Given the description of an element on the screen output the (x, y) to click on. 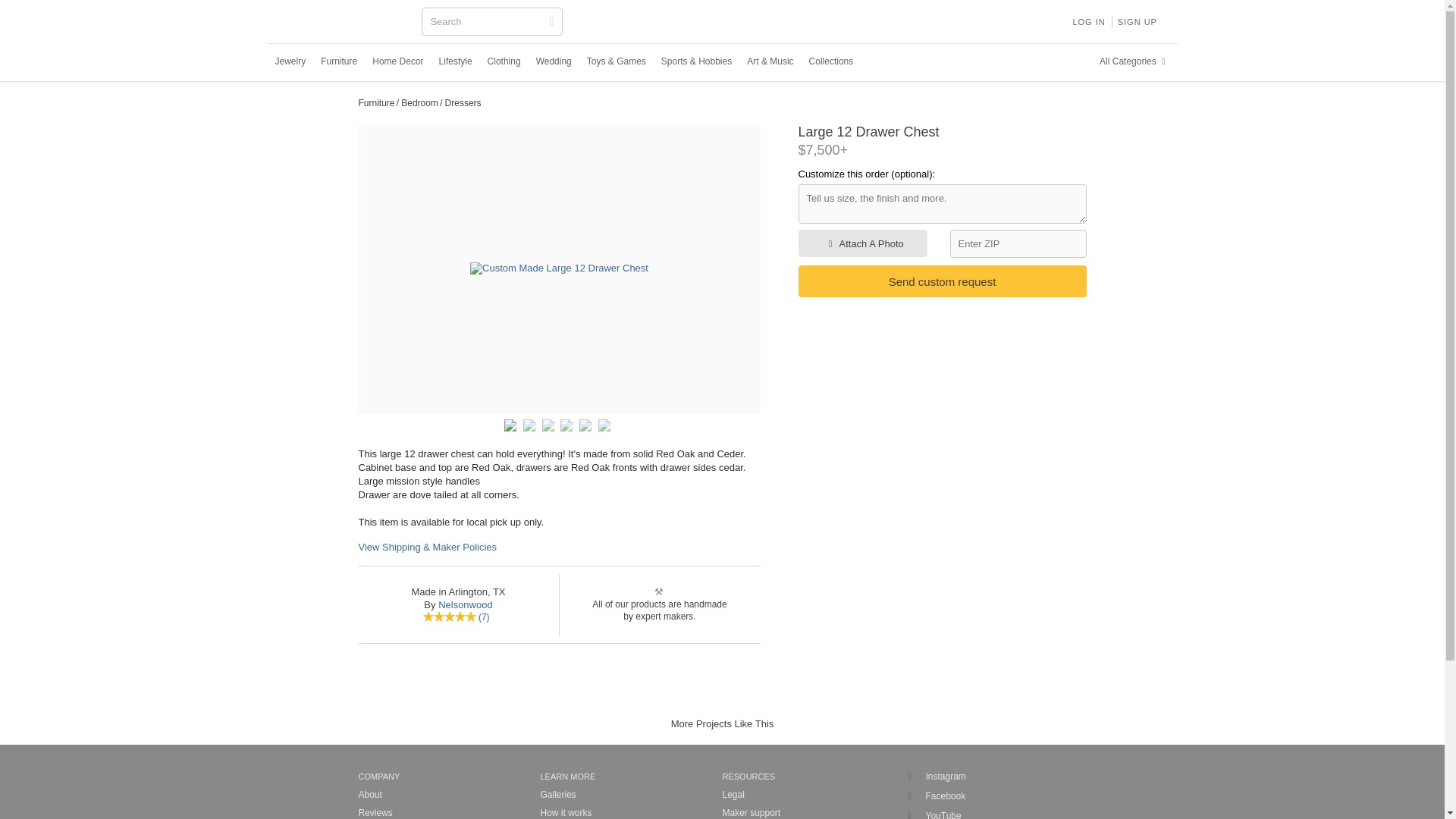
Log in to CustomMade (1087, 21)
All Categories (1134, 61)
Custom Jewelry (289, 61)
LOG IN (1087, 21)
CUSTOMMADE (342, 22)
Jewelry (289, 61)
SIGN UP (1137, 21)
